Given the description of an element on the screen output the (x, y) to click on. 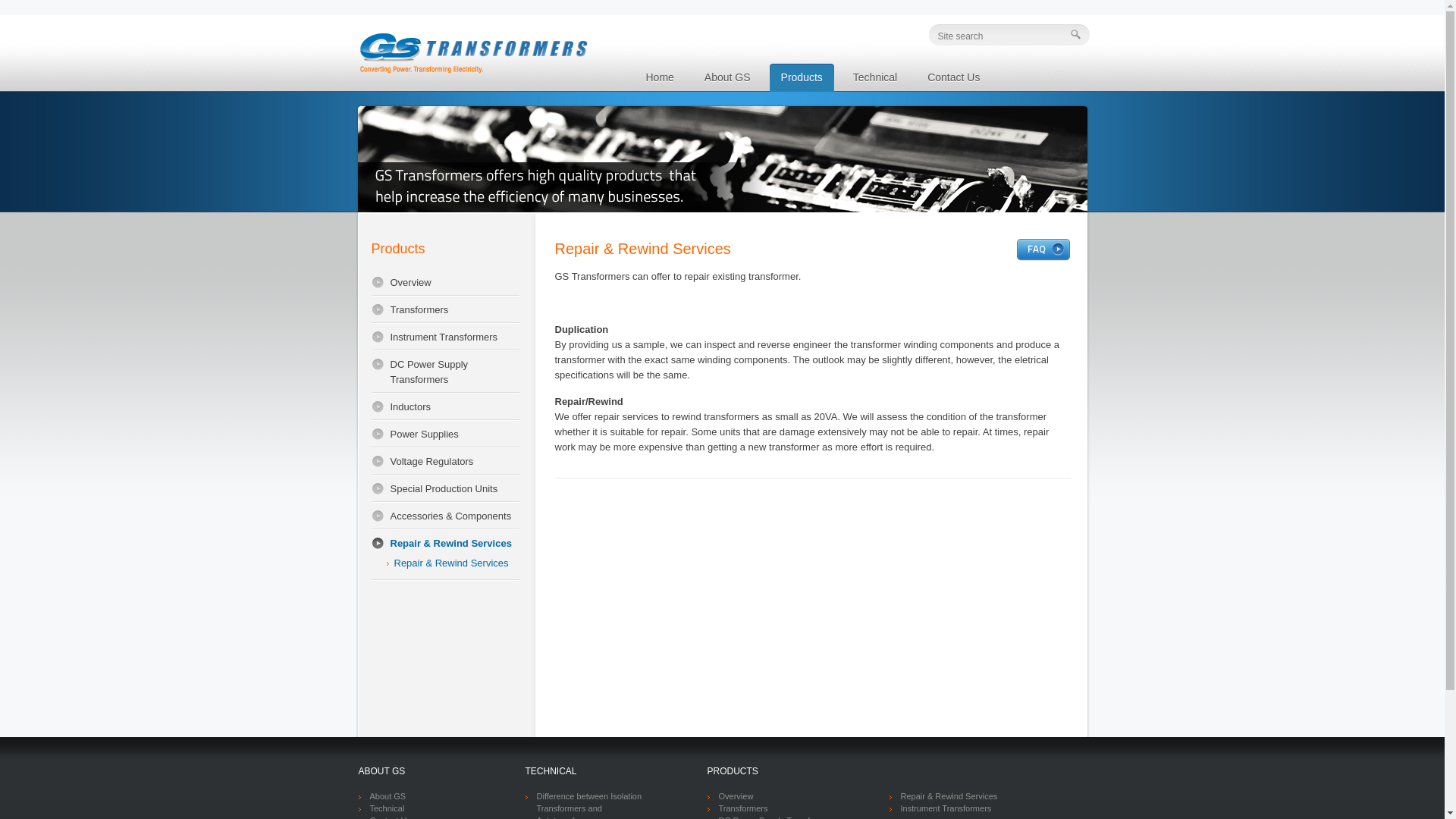
Site search (997, 36)
Special Production Units (445, 488)
About GS (388, 796)
Voltage Regulators (445, 461)
Overview (445, 282)
Instrument Transformers (445, 337)
Home (658, 77)
Voltage Regulators (445, 461)
Technical (874, 77)
Inductors (445, 406)
